Given the description of an element on the screen output the (x, y) to click on. 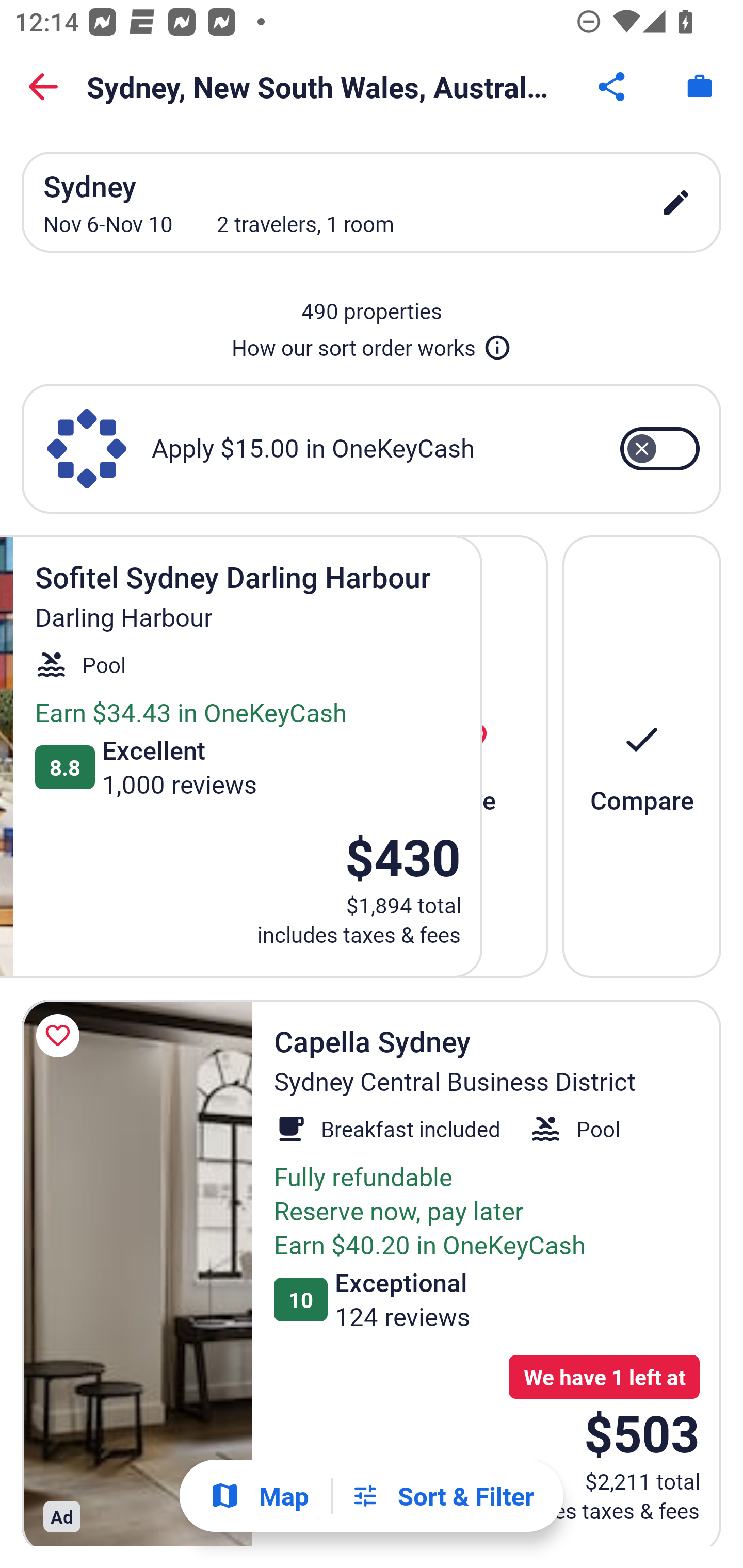
Back (43, 86)
Share Button (612, 86)
Trips. Button (699, 86)
Sydney Nov 6-Nov 10 2 travelers, 1 room edit (371, 202)
How our sort order works (371, 344)
Compare (641, 756)
Save Capella Sydney to a trip (61, 1035)
Capella Sydney (136, 1273)
Filters Sort & Filter Filters Button (442, 1495)
Show map Map Show map Button (258, 1495)
